Given the description of an element on the screen output the (x, y) to click on. 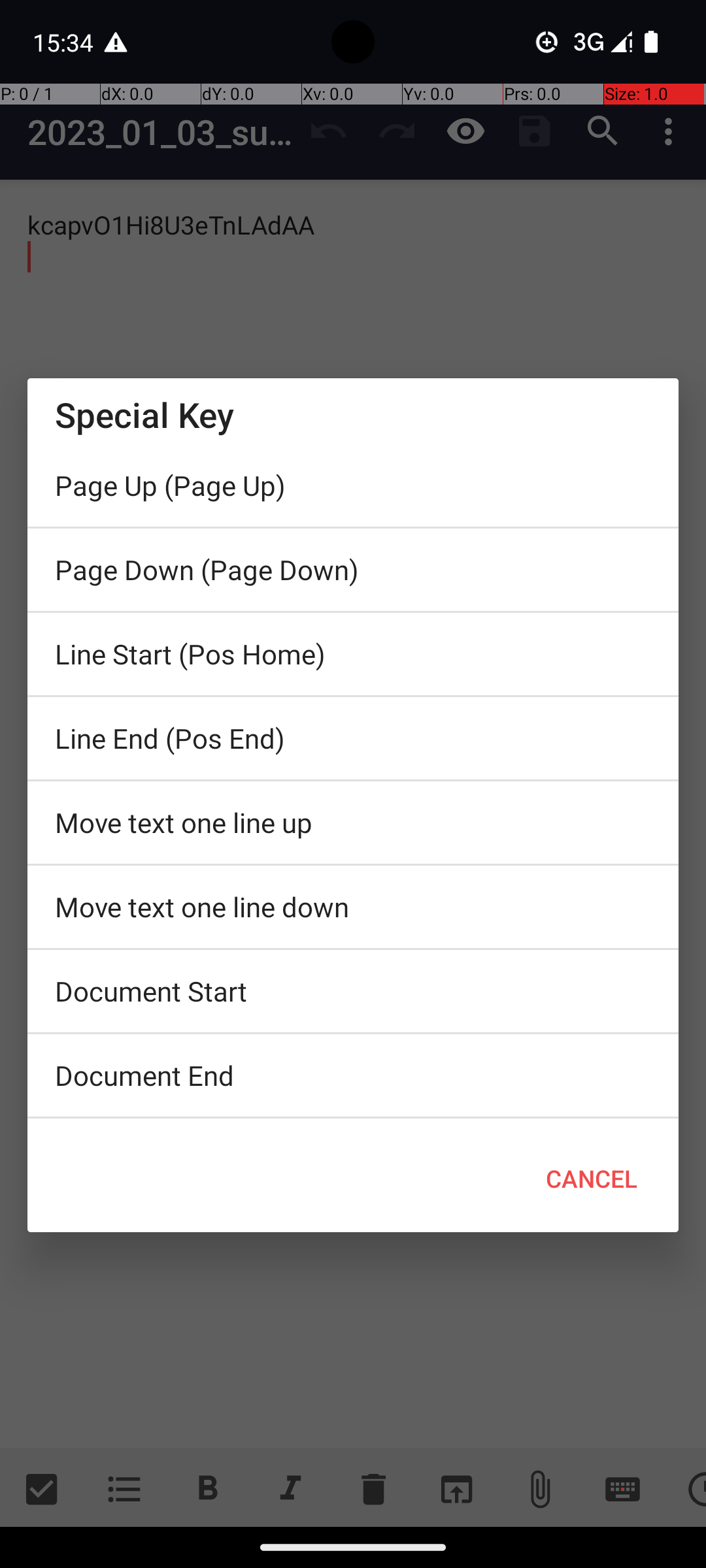
Page Up (Page Up) Element type: android.widget.TextView (352, 485)
Page Down (Page Down) Element type: android.widget.TextView (352, 569)
Line Start (Pos Home) Element type: android.widget.TextView (352, 653)
Line End (Pos End) Element type: android.widget.TextView (352, 738)
Move text one line up Element type: android.widget.TextView (352, 822)
Move text one line down Element type: android.widget.TextView (352, 906)
Document Start Element type: android.widget.TextView (352, 990)
Document End Element type: android.widget.TextView (352, 1075)
Select all (Ctrl+A) Element type: android.widget.TextView (352, 1121)
